Given the description of an element on the screen output the (x, y) to click on. 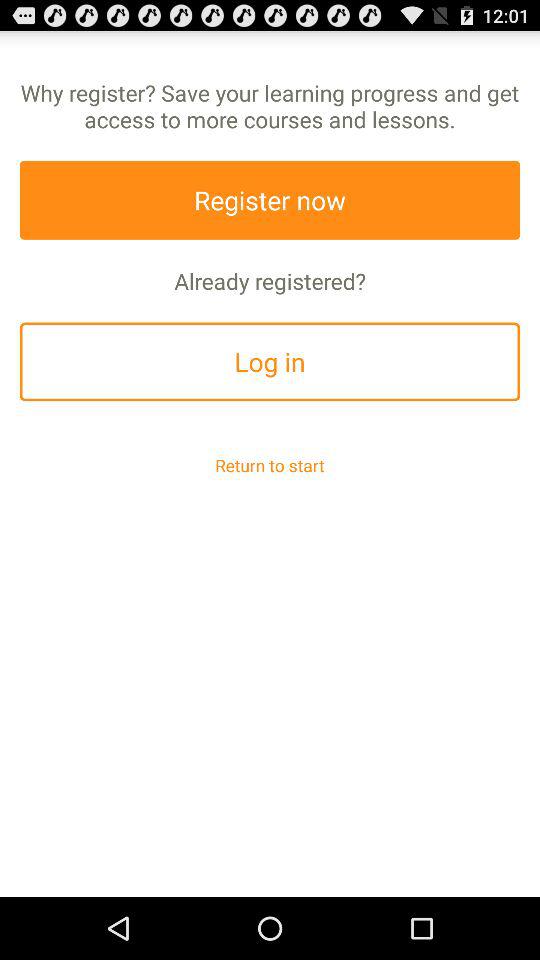
tap log in item (269, 361)
